Given the description of an element on the screen output the (x, y) to click on. 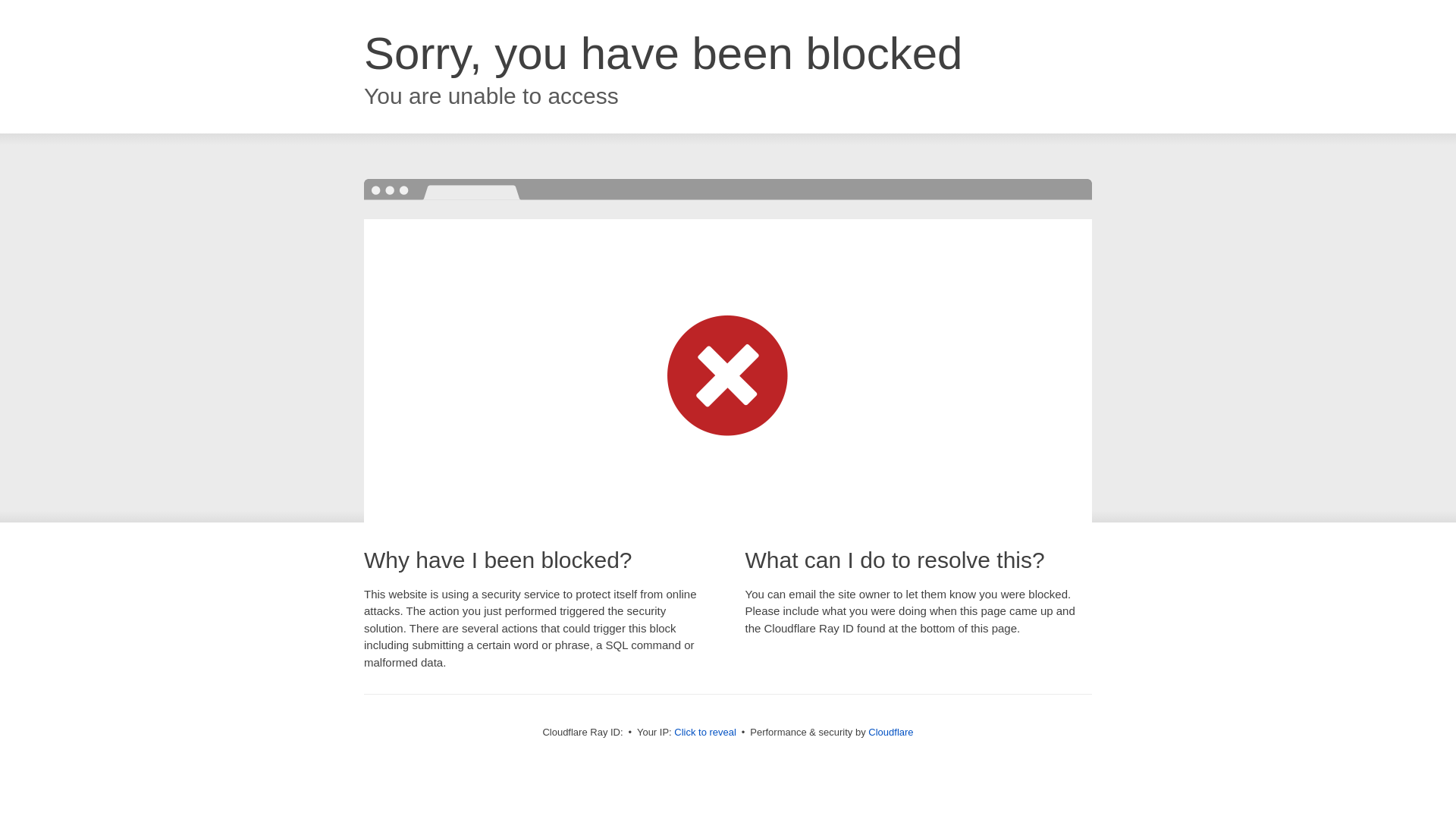
Click to reveal Element type: text (705, 732)
Cloudflare Element type: text (890, 731)
